Given the description of an element on the screen output the (x, y) to click on. 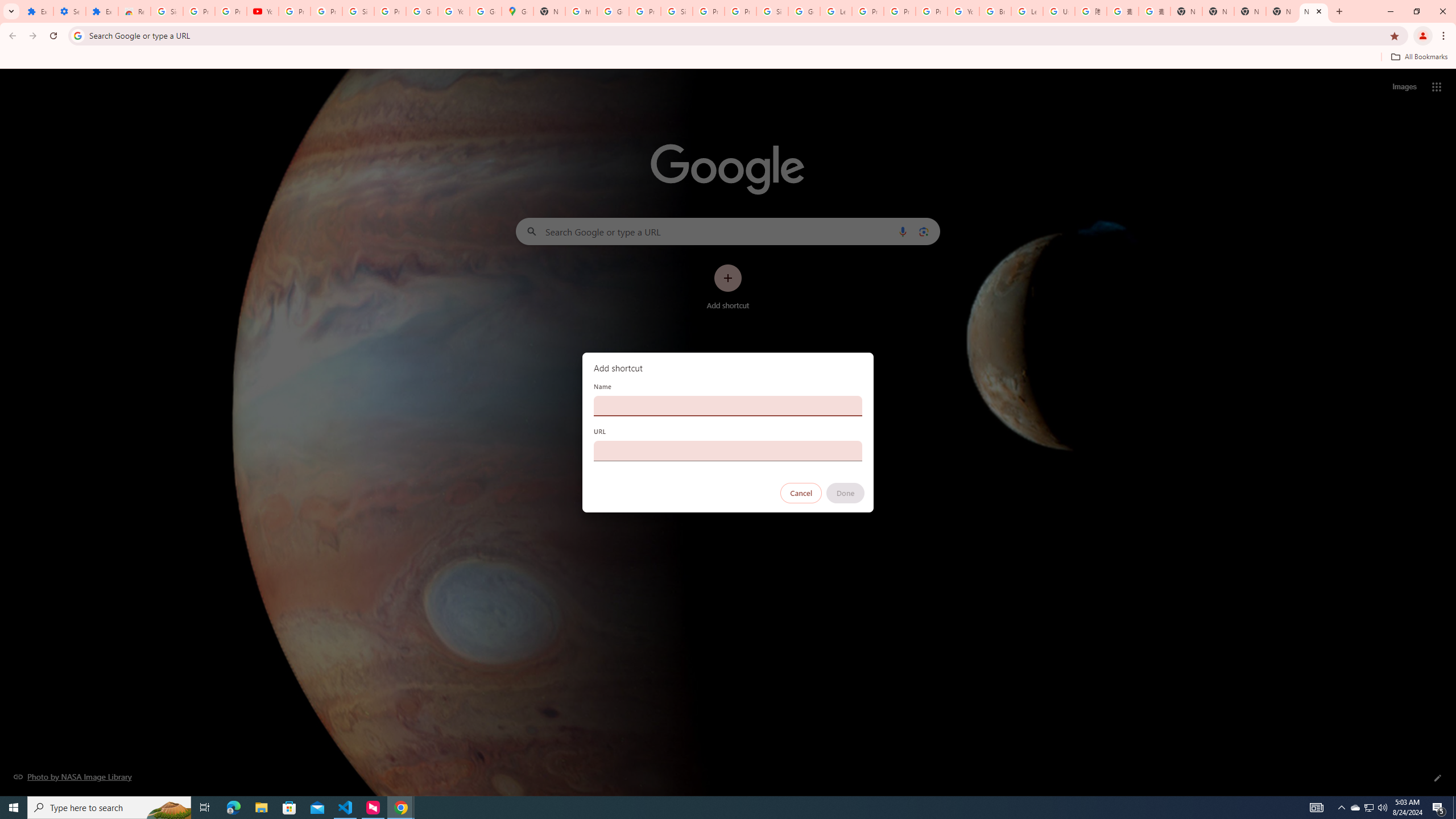
Google Account (421, 11)
URL (727, 450)
YouTube (963, 11)
